Given the description of an element on the screen output the (x, y) to click on. 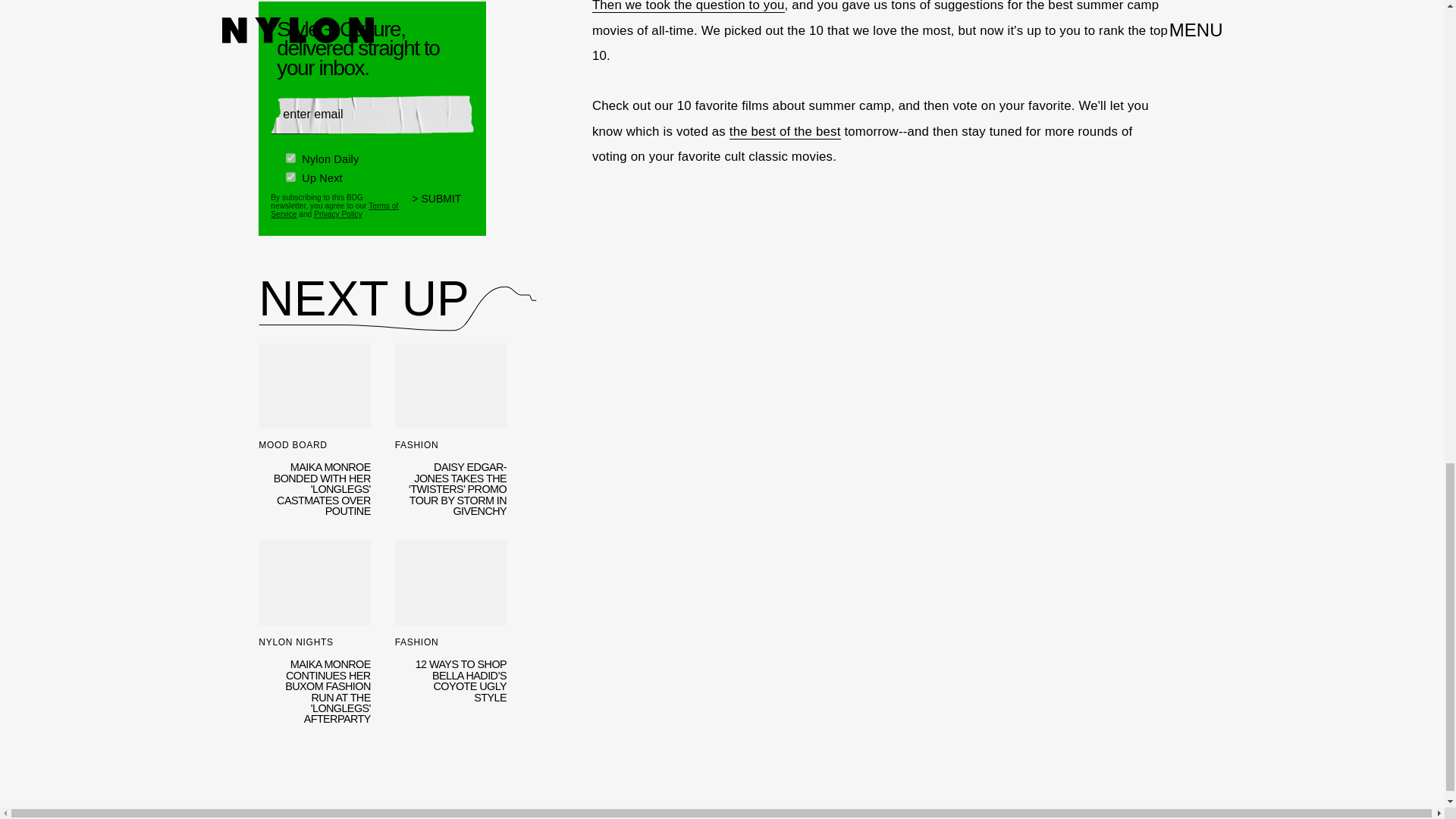
Terms of Service (333, 209)
Privacy Policy (338, 213)
Then we took the question to you (688, 6)
SUBMIT (443, 208)
the best of the best (785, 131)
